Given the description of an element on the screen output the (x, y) to click on. 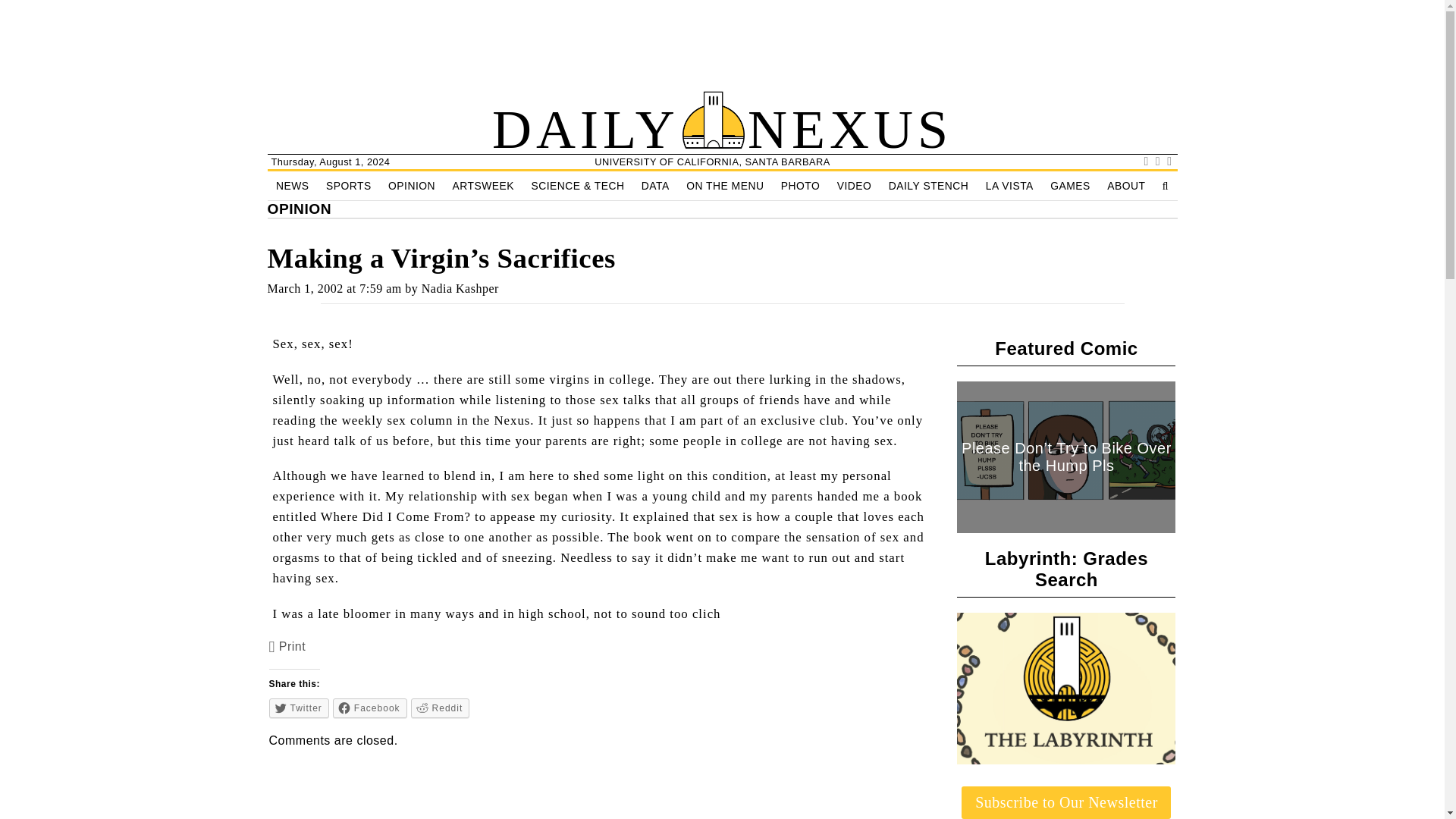
Click to share on Twitter (299, 708)
Click to share on Facebook (370, 708)
Posts by Nadia Kashper (460, 287)
Click to share on Reddit (440, 708)
